Given the description of an element on the screen output the (x, y) to click on. 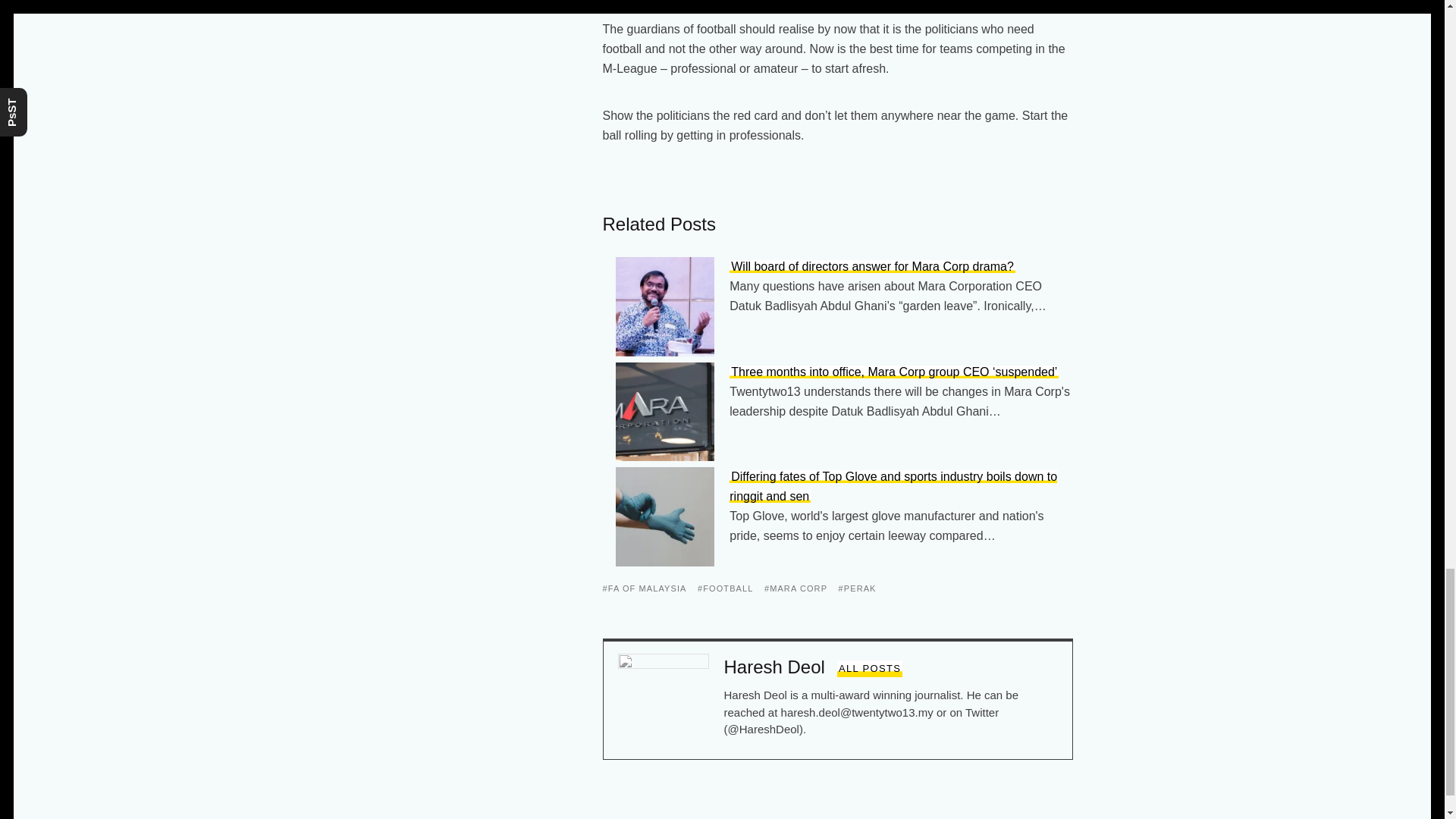
FA OF MALAYSIA (643, 587)
FOOTBALL (724, 587)
PERAK (857, 587)
View all posts by Haresh Deol (869, 668)
ALL POSTS (869, 668)
MARA CORP (795, 587)
Will board of directors answer for Mara Corp drama? (871, 266)
